Given the description of an element on the screen output the (x, y) to click on. 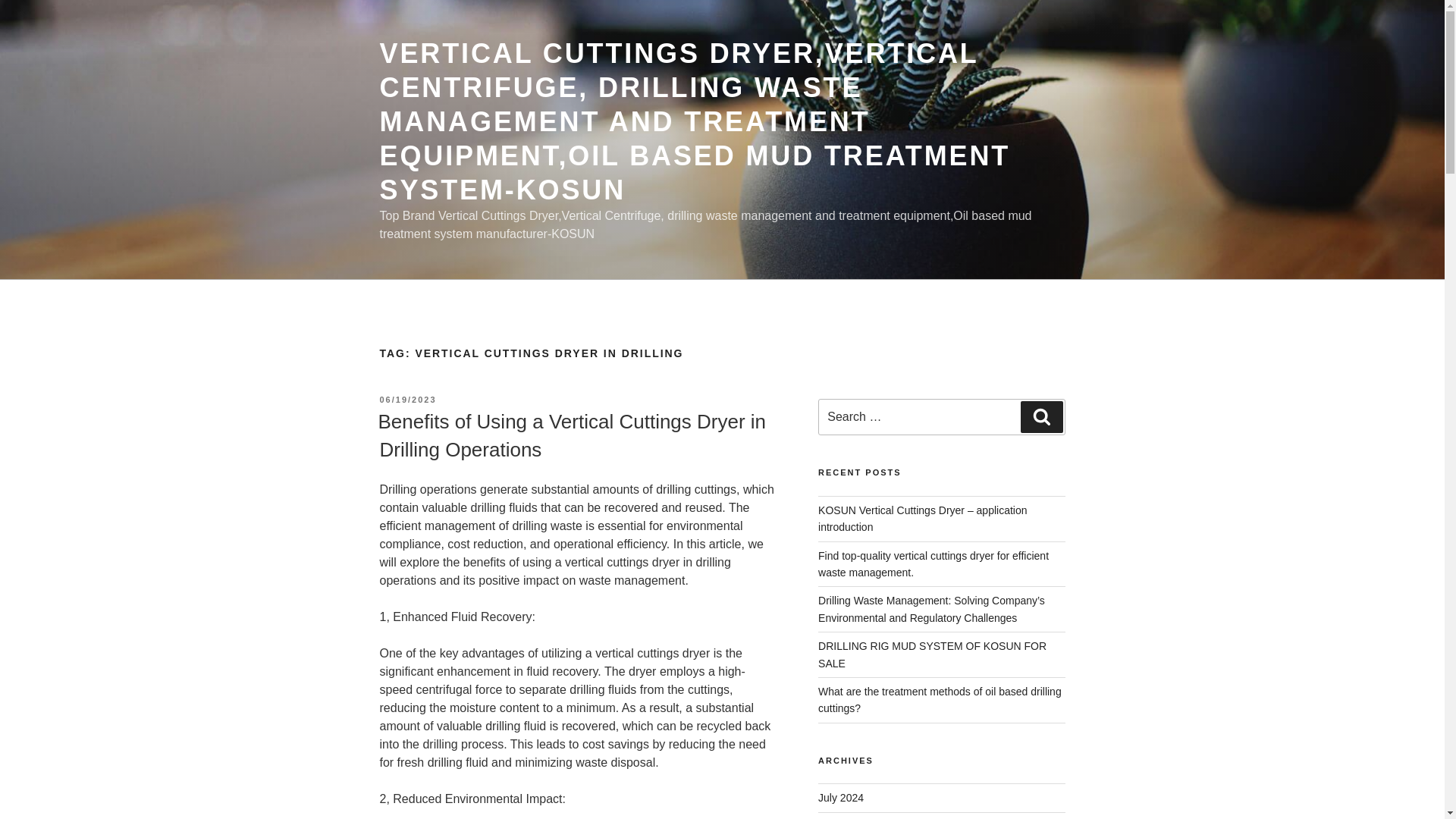
DRILLING RIG MUD SYSTEM OF KOSUN FOR SALE (932, 654)
July 2024 (840, 797)
Search (1041, 417)
